Given the description of an element on the screen output the (x, y) to click on. 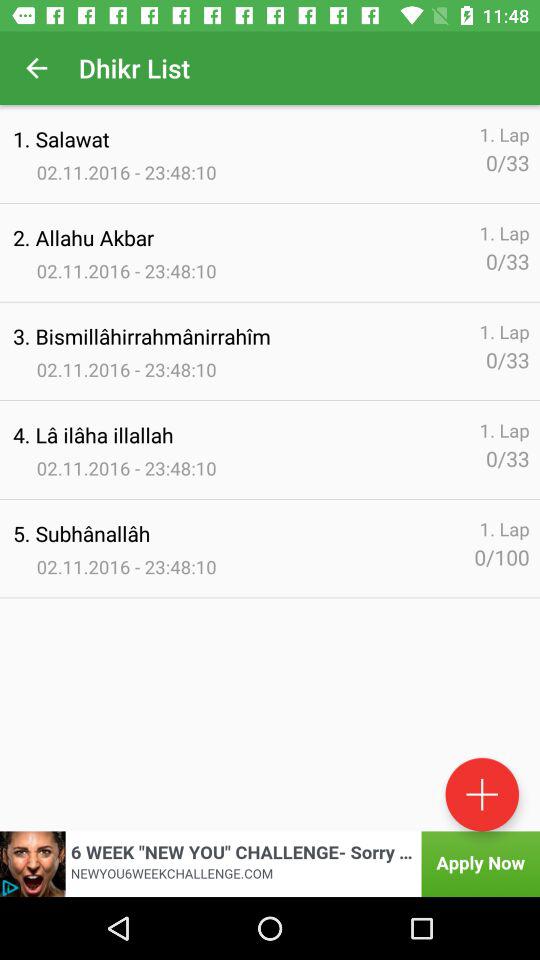
add list (482, 794)
